Given the description of an element on the screen output the (x, y) to click on. 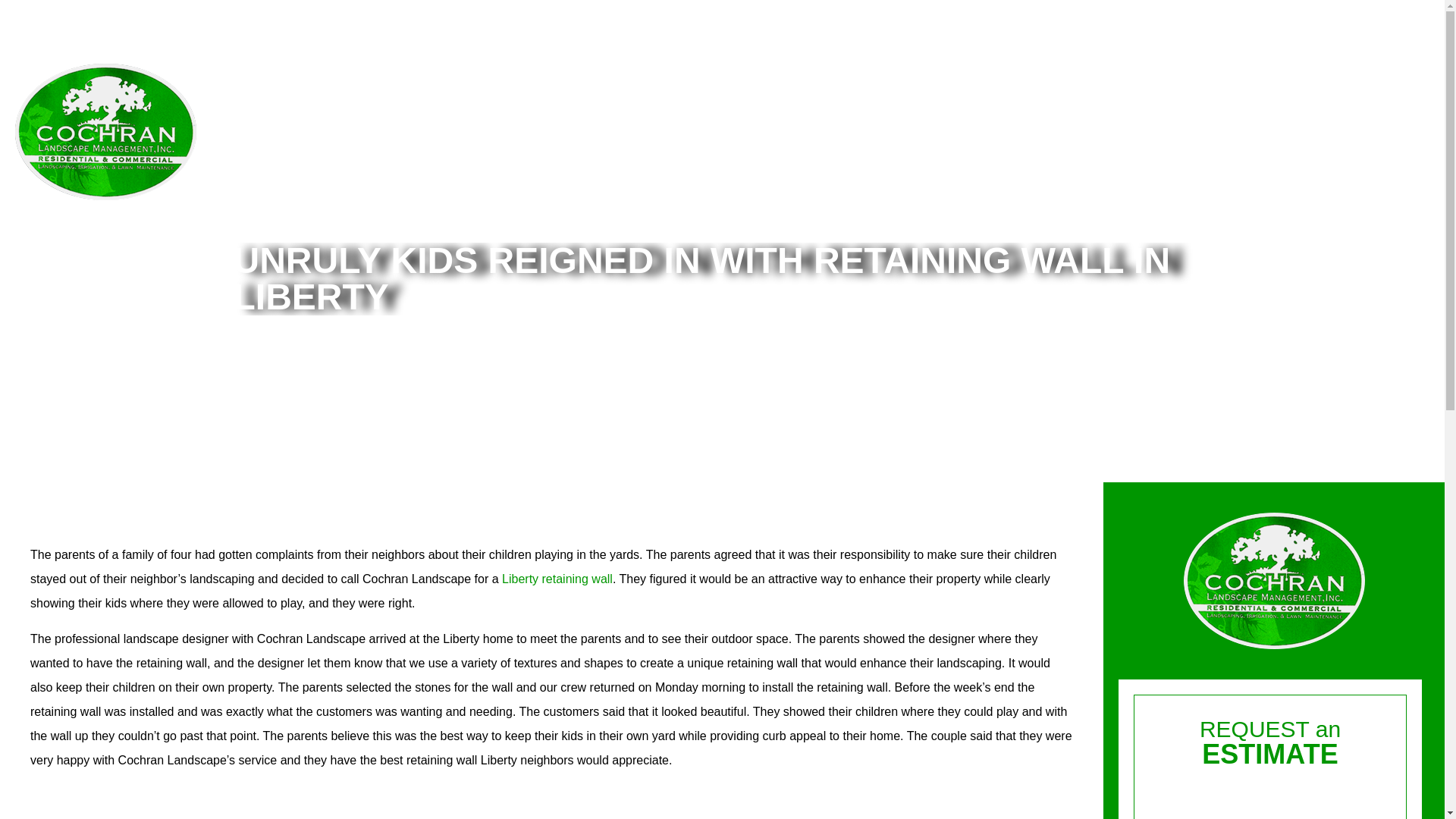
About (1130, 128)
864.859.4004 (1345, 98)
Liberty retaining wall (557, 578)
Services (1204, 128)
Testimonials (1299, 128)
Home (1063, 128)
Contact (1390, 128)
